Given the description of an element on the screen output the (x, y) to click on. 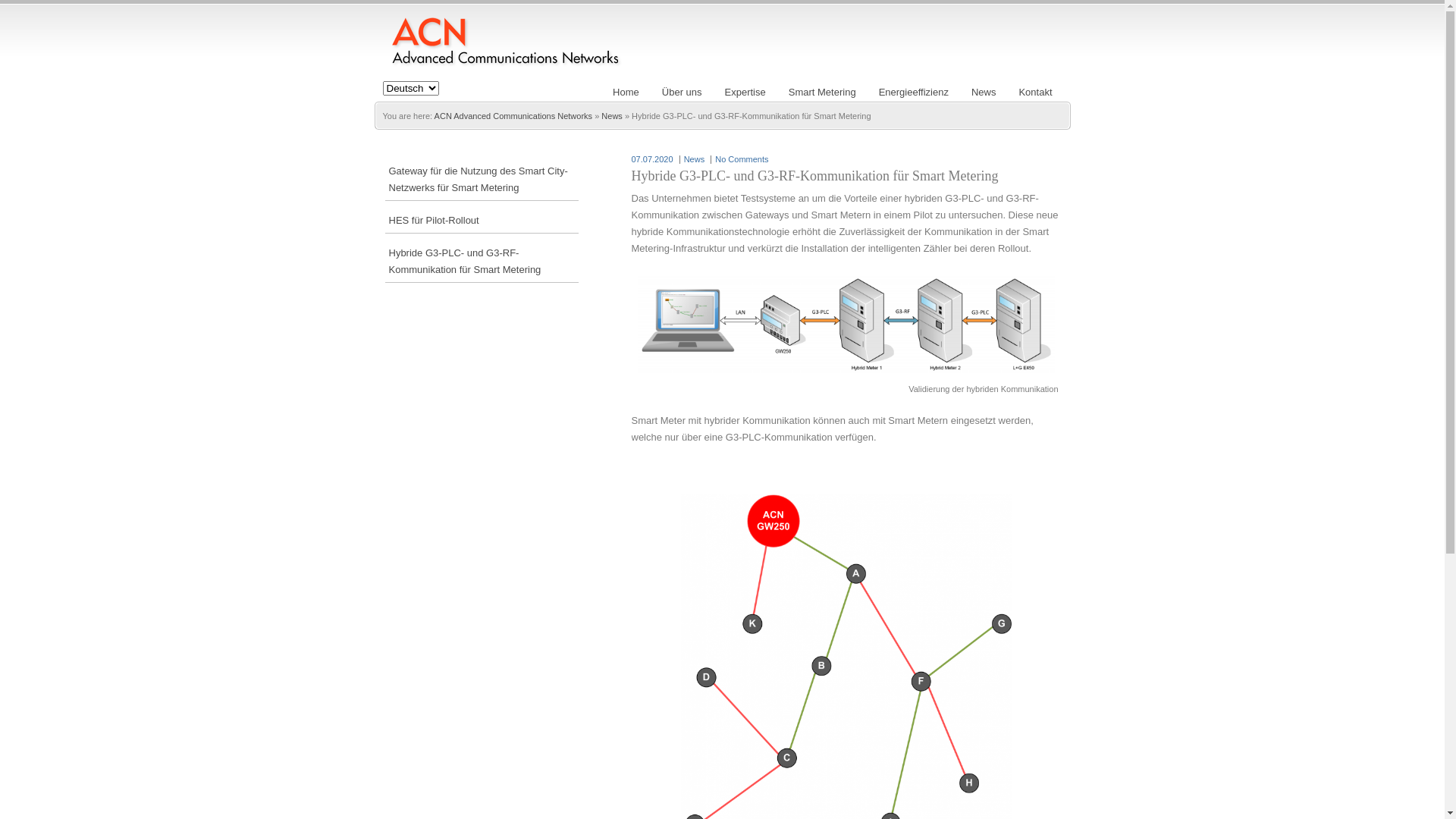
Smart Metering Element type: text (822, 93)
News Element type: text (611, 115)
Kontakt Element type: text (1035, 93)
Expertise Element type: text (745, 93)
Energieeffizienz Element type: text (913, 93)
ACN Advanced Communications Networks Element type: text (513, 115)
ACN Advanced Communications Networks Element type: text (503, 48)
News Element type: text (694, 158)
News Element type: text (983, 93)
Home Element type: text (625, 93)
